Given the description of an element on the screen output the (x, y) to click on. 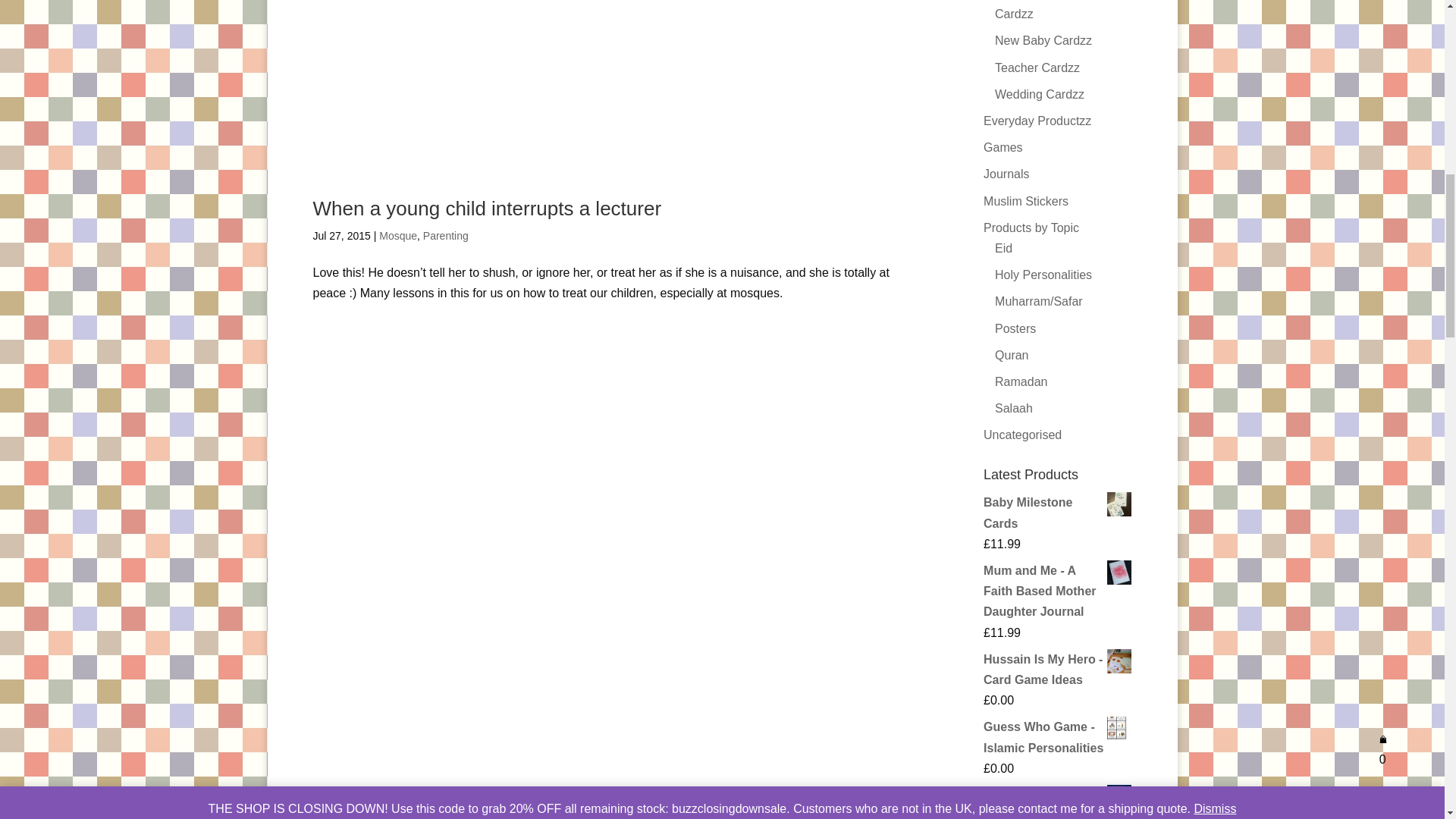
Parenting (445, 235)
Mosque (397, 235)
When a young child interrupts a lecturer (487, 208)
